Given the description of an element on the screen output the (x, y) to click on. 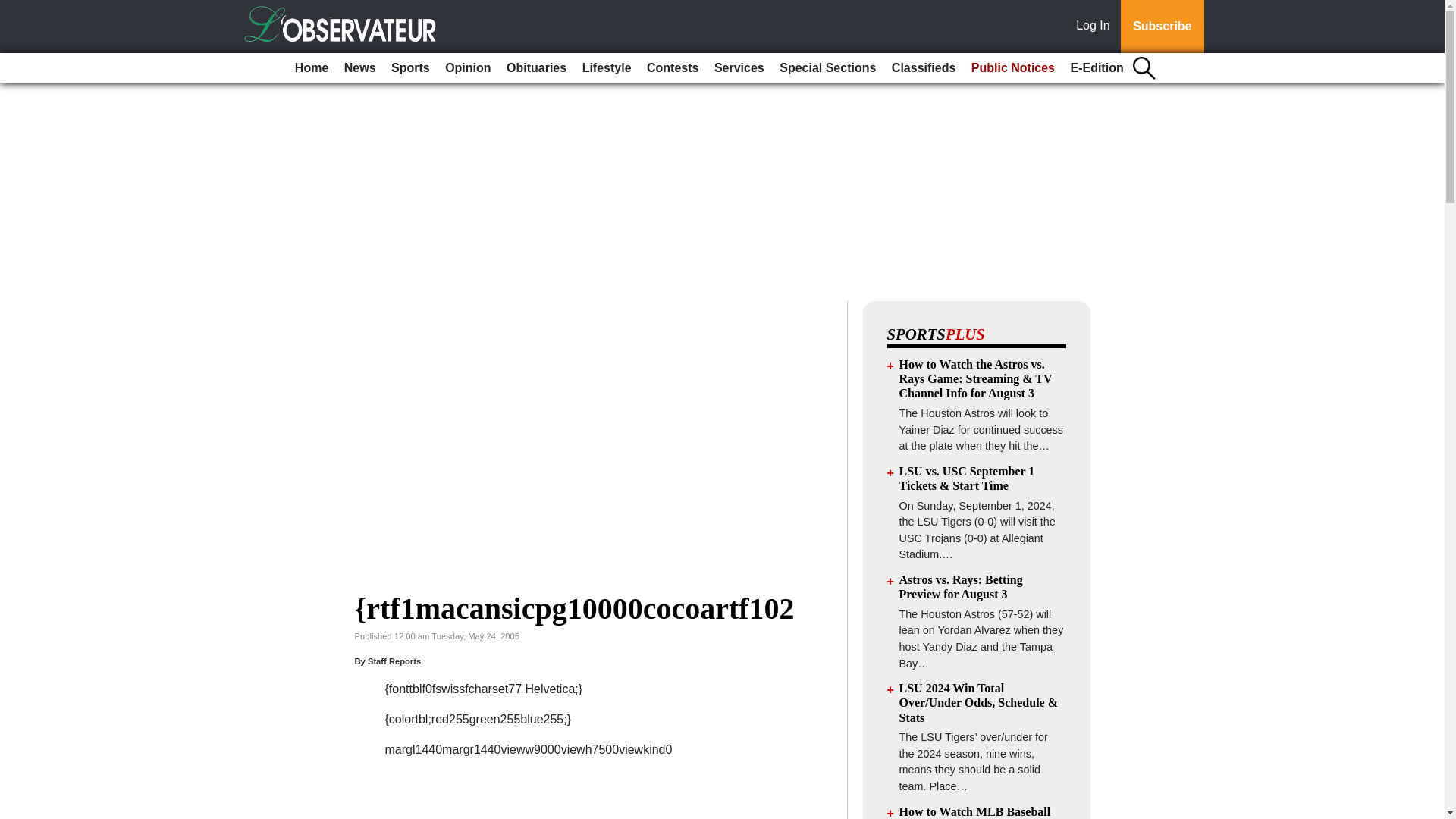
E-Edition (1096, 68)
Public Notices (1013, 68)
Services (738, 68)
Go (13, 9)
Astros vs. Rays: Betting Preview for August 3 (961, 586)
Home (311, 68)
Staff Reports (394, 660)
Obituaries (536, 68)
Special Sections (827, 68)
